Given the description of an element on the screen output the (x, y) to click on. 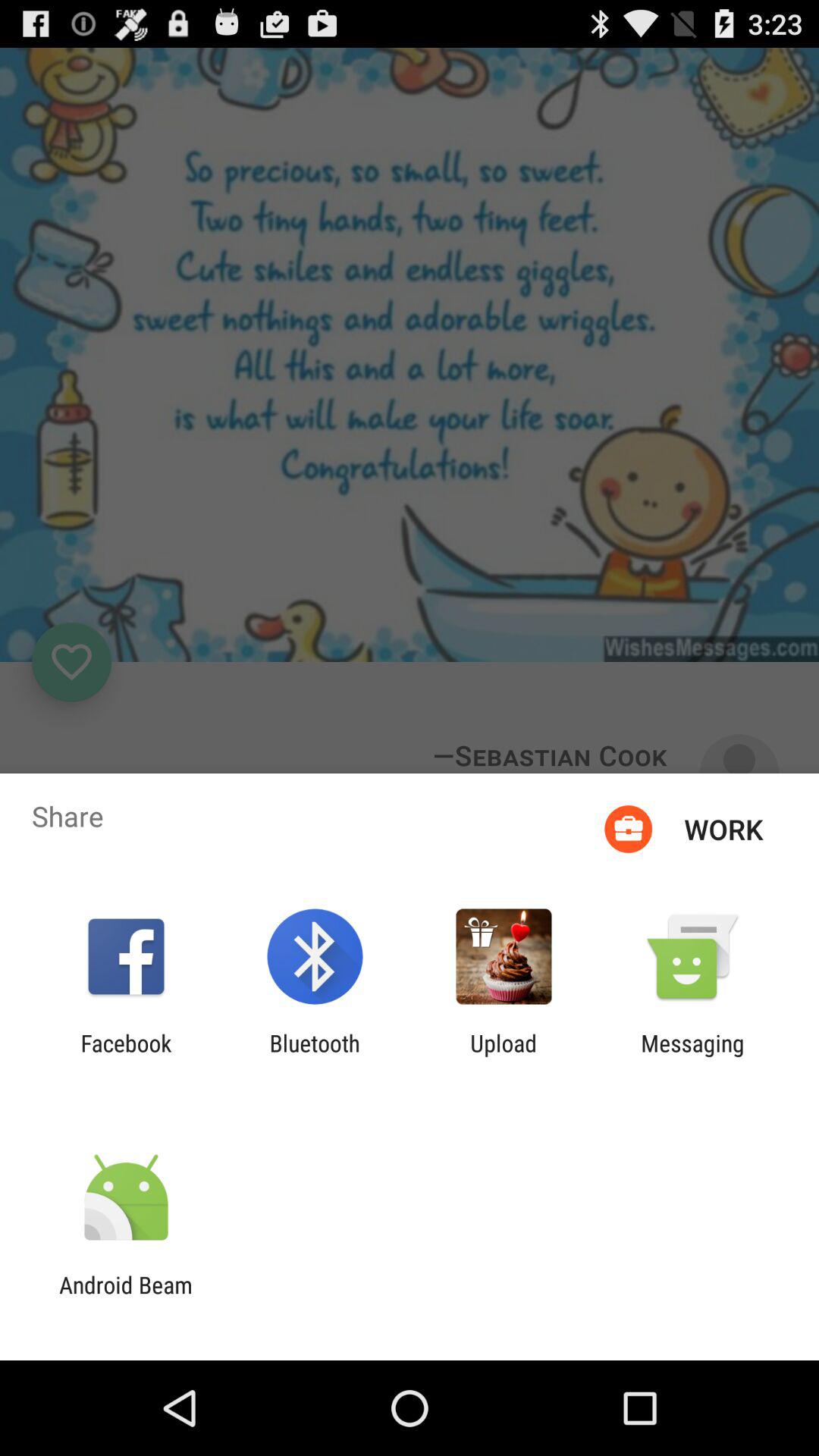
turn off the upload (503, 1056)
